Given the description of an element on the screen output the (x, y) to click on. 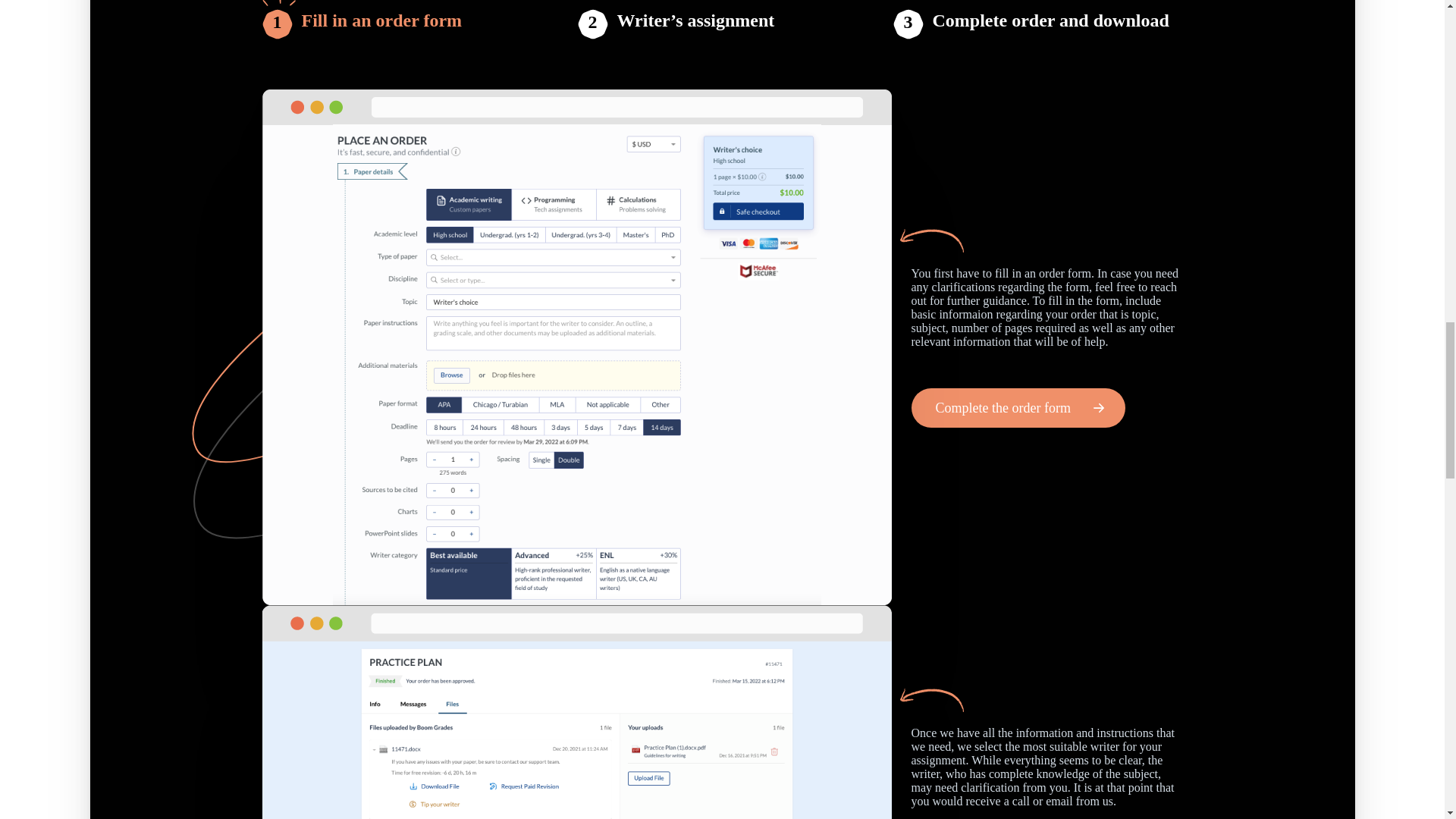
Complete order and download (1051, 24)
Fill in an order form (382, 24)
Complete the order form (1018, 407)
